Given the description of an element on the screen output the (x, y) to click on. 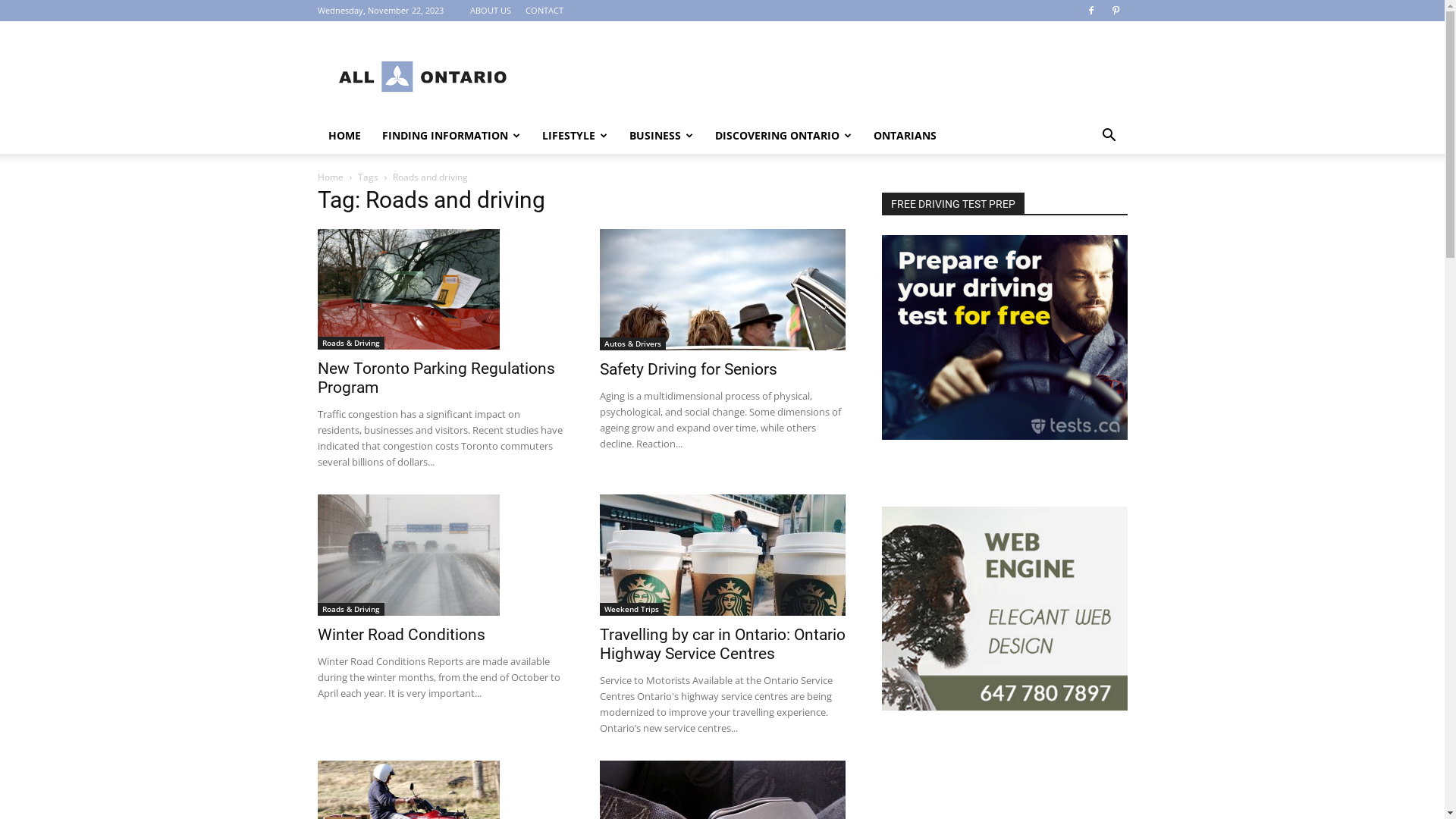
Advertisement Element type: hover (850, 76)
LIFESTYLE Element type: text (574, 135)
New Toronto Parking Regulations Program Element type: hover (407, 289)
Weekend Trips Element type: text (630, 608)
Safety Driving for Seniors Element type: text (687, 369)
DISCOVERING ONTARIO Element type: text (782, 135)
New Toronto Parking Regulations Program Element type: hover (439, 289)
Facebook Element type: hover (1090, 10)
Autos & Drivers Element type: text (632, 343)
ABOUT US Element type: text (490, 9)
Search Element type: text (1085, 196)
New Toronto Parking Regulations Program Element type: text (435, 377)
Roads & Driving Element type: text (349, 608)
HOME Element type: text (343, 135)
Home Element type: text (329, 176)
Winter Road Conditions Element type: hover (439, 554)
Roads & Driving Element type: text (349, 342)
Safety Driving for Seniors Element type: hover (721, 289)
Pinterest Element type: hover (1115, 10)
ONTARIANS Element type: text (904, 135)
Winter Road Conditions Element type: text (400, 634)
FINDING INFORMATION Element type: text (451, 135)
CONTACT Element type: text (543, 9)
BUSINESS Element type: text (661, 135)
Winter Road Conditions Element type: hover (407, 554)
